Given the description of an element on the screen output the (x, y) to click on. 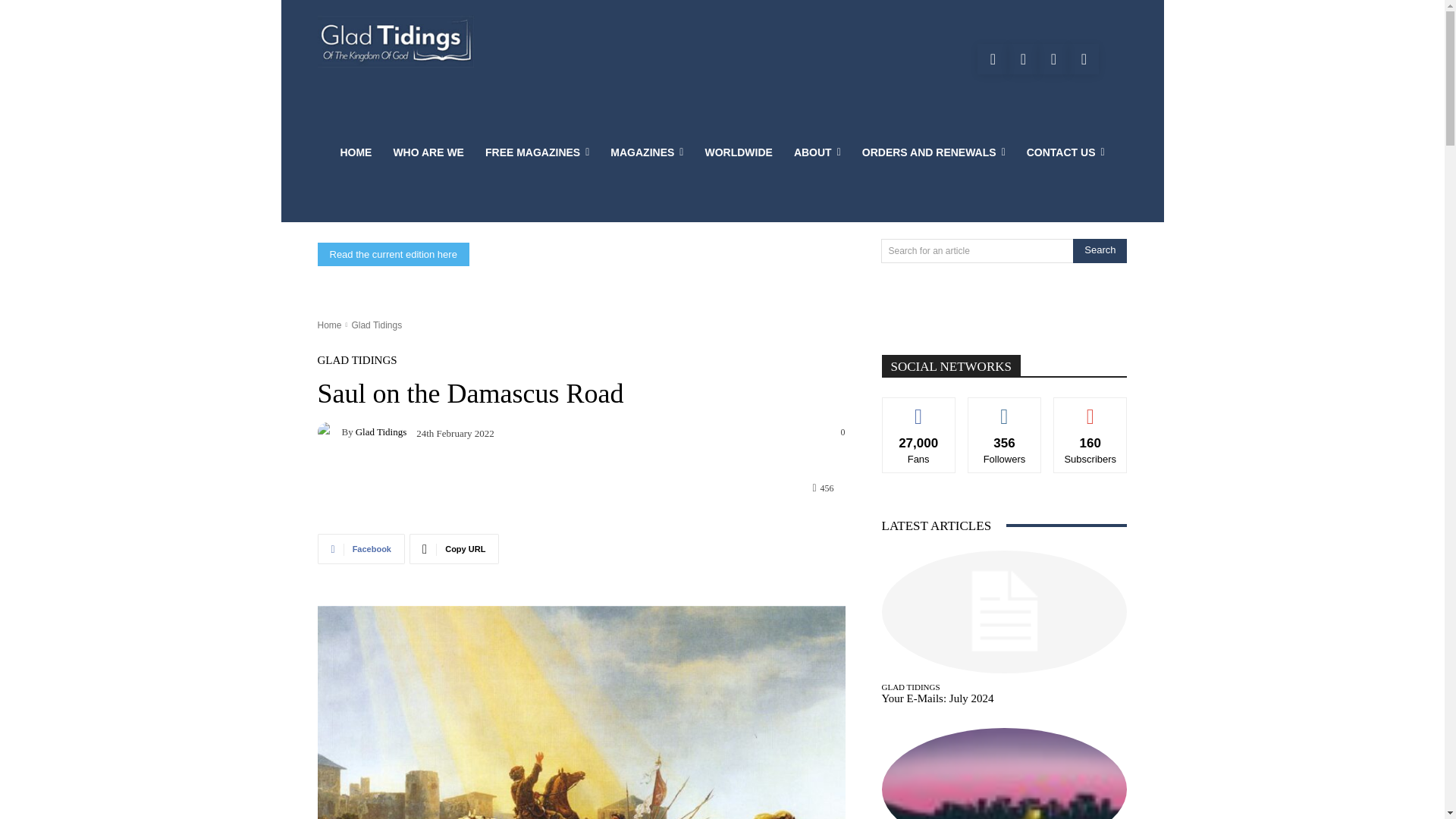
HOME (355, 152)
MAGAZINES (646, 152)
WHO ARE WE (427, 152)
Download and view the latest articles (395, 41)
FREE MAGAZINES (536, 152)
Youtube (1022, 59)
Facebook (991, 59)
Instagram (1053, 59)
Mail-1 (1083, 59)
WORLDWIDE (738, 152)
